Given the description of an element on the screen output the (x, y) to click on. 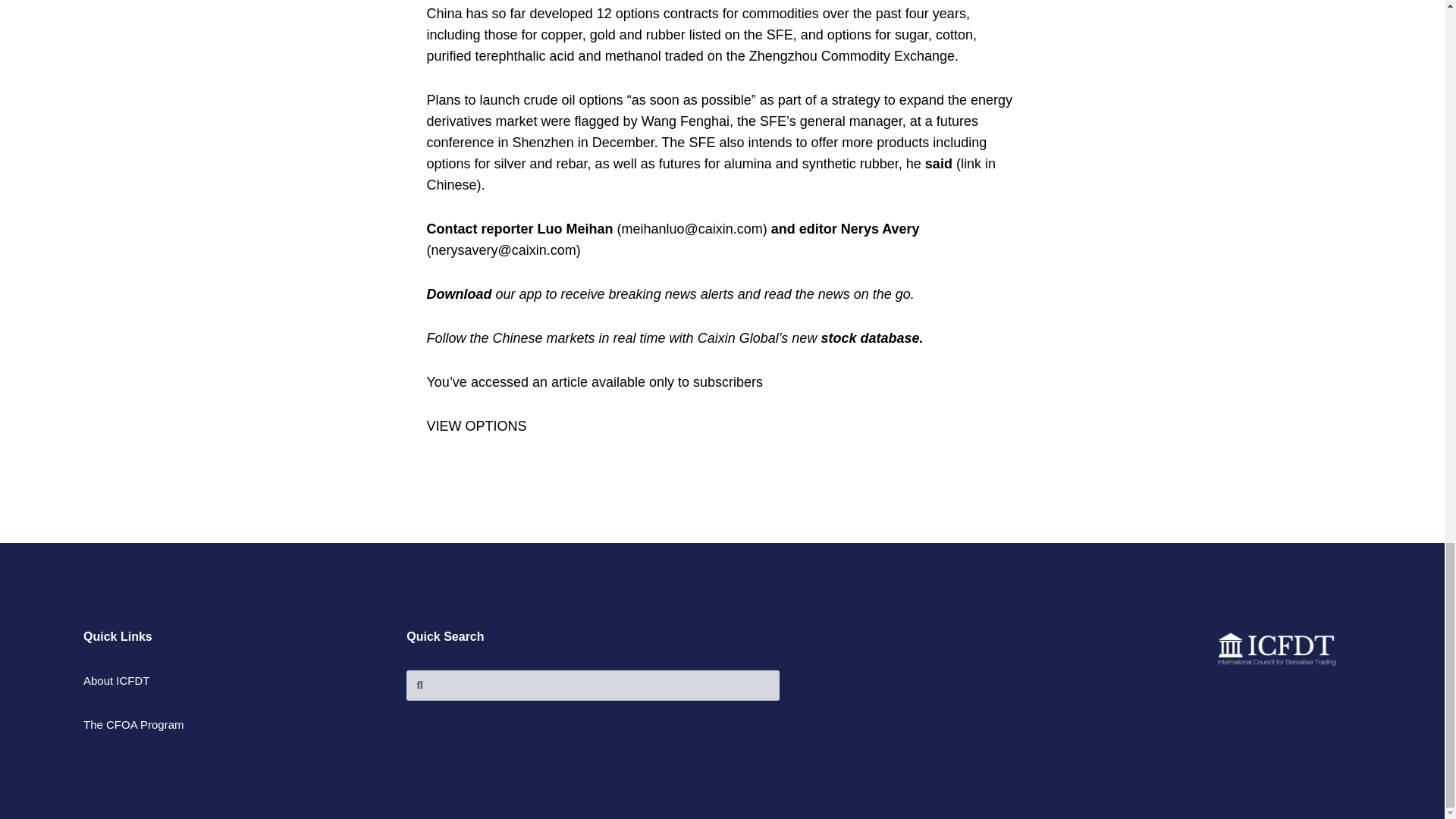
stock database. (872, 337)
said (940, 163)
About ICFDT (236, 680)
The CFOA Program (236, 724)
Download (460, 294)
